Given the description of an element on the screen output the (x, y) to click on. 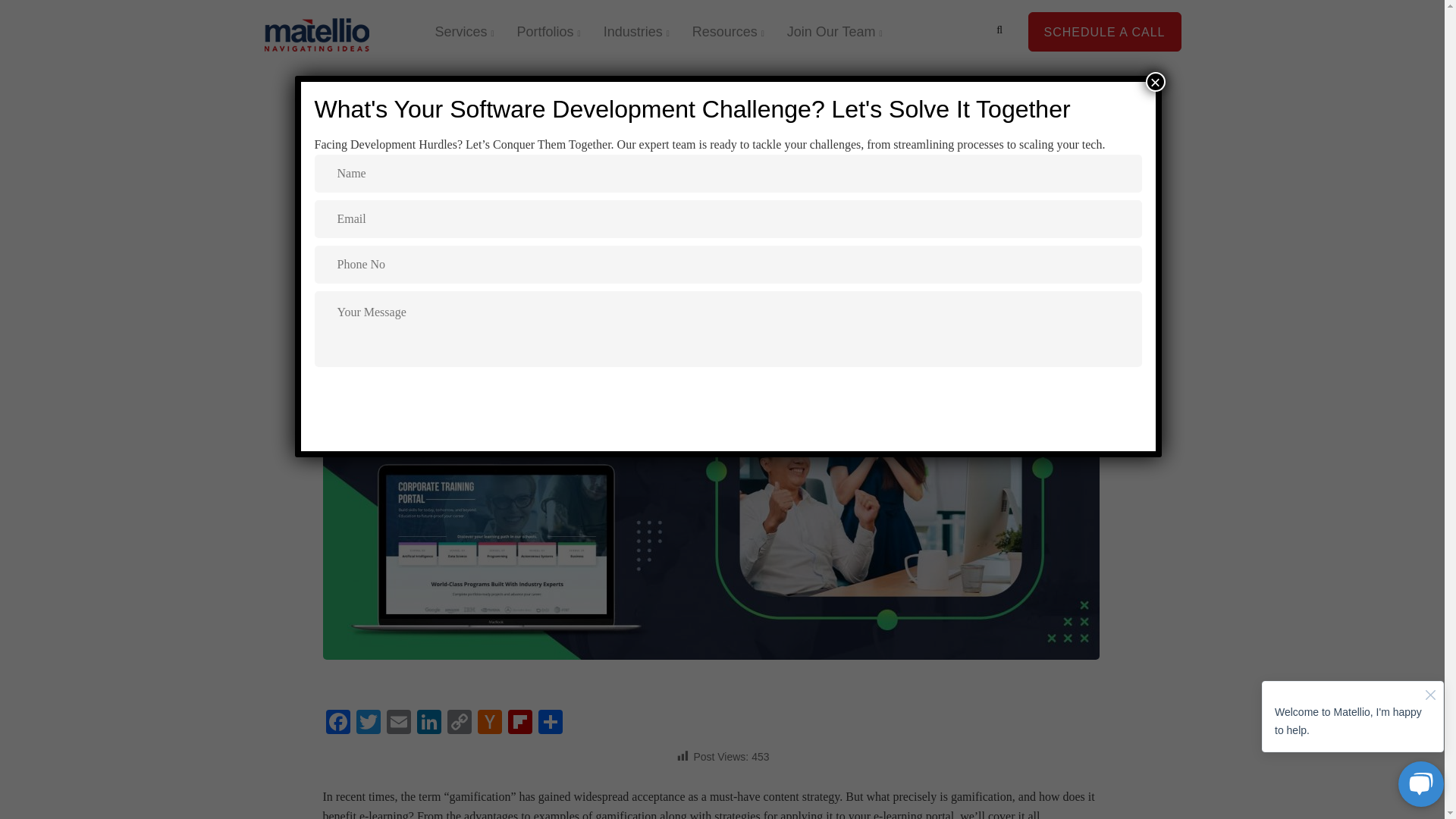
Services (464, 31)
Services (464, 31)
Submit Inquiry (727, 394)
